Given the description of an element on the screen output the (x, y) to click on. 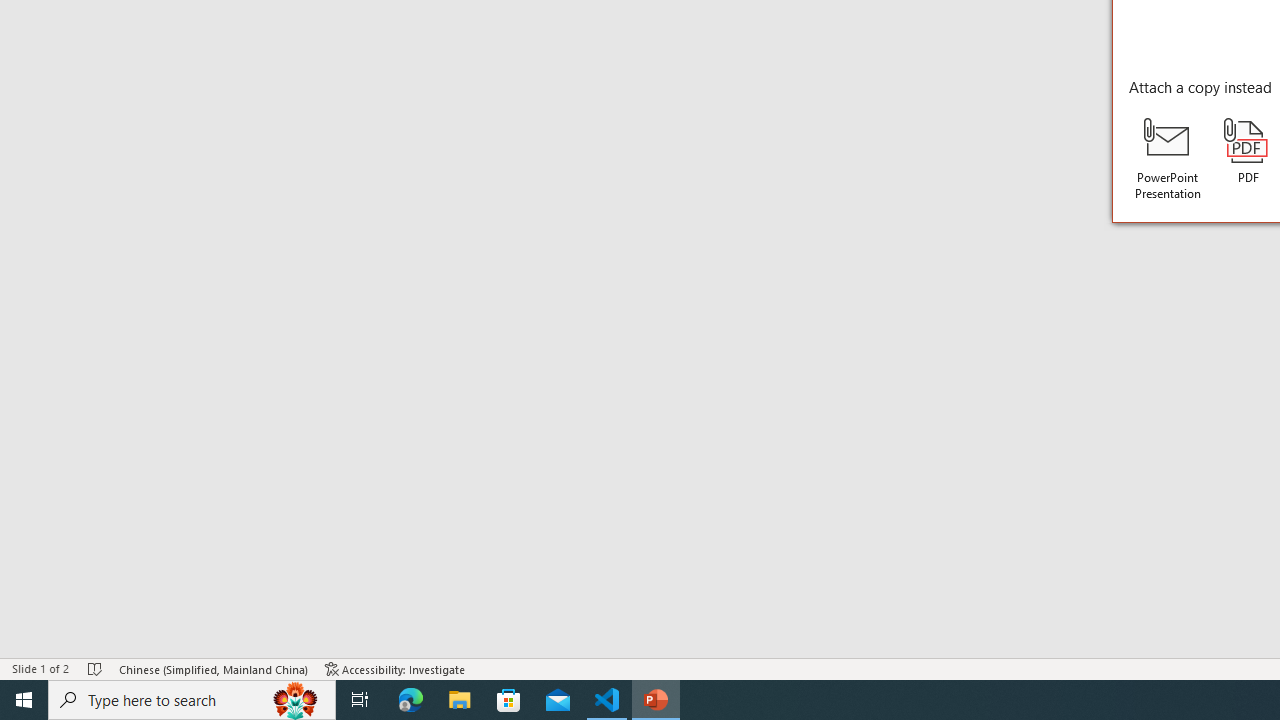
PDF (1247, 151)
PowerPoint Presentation (1167, 159)
